Given the description of an element on the screen output the (x, y) to click on. 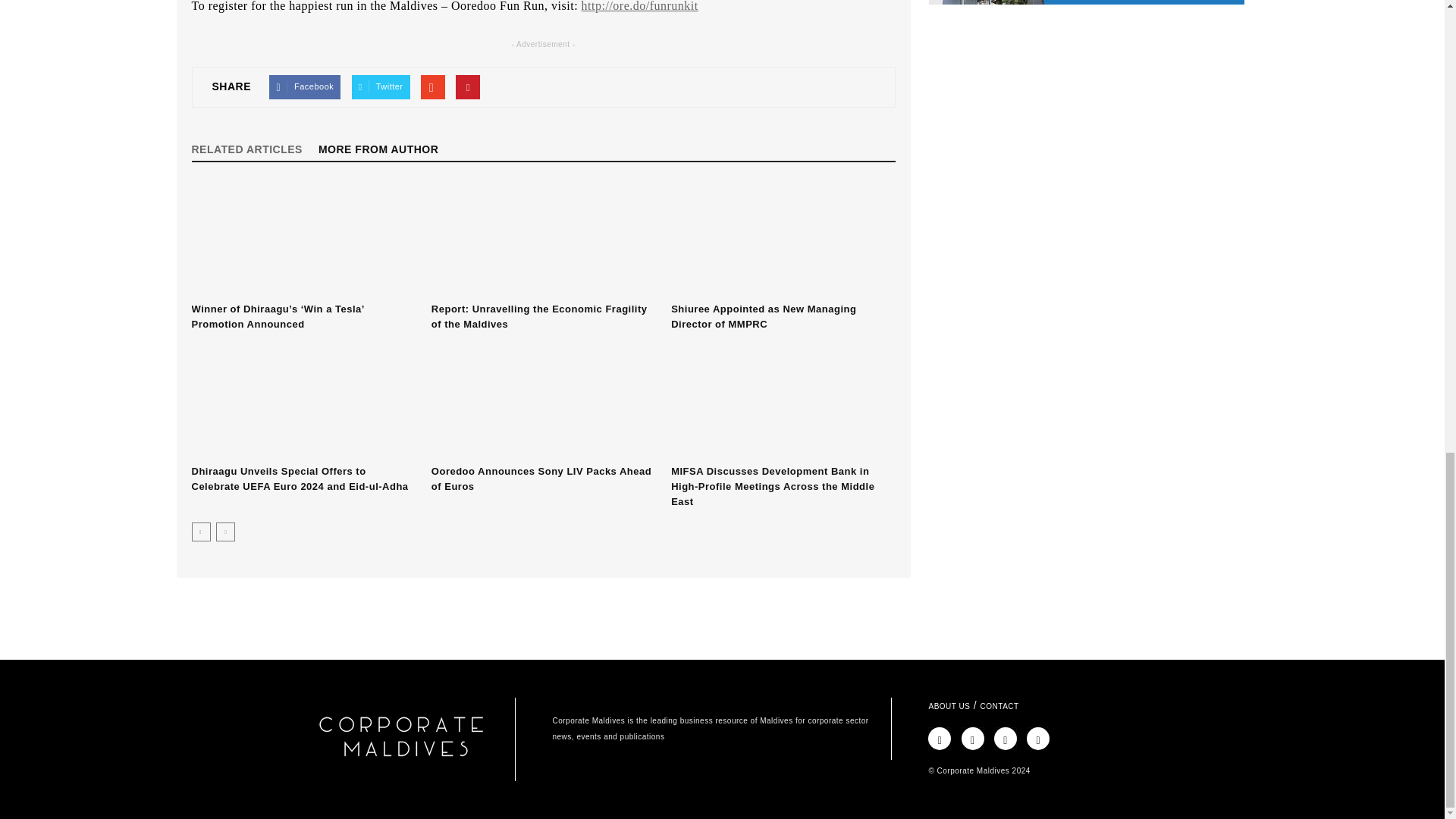
Shiuree Appointed as New Managing Director of MMPRC (763, 316)
Shiuree Appointed as New Managing Director of MMPRC (783, 239)
Report: Unravelling the Economic Fragility of the Maldives (538, 316)
Twitter (381, 87)
Report: Unravelling the Economic Fragility of the Maldives (542, 239)
Facebook (304, 87)
Ooredoo Announces Sony LIV Packs Ahead of Euros (542, 401)
